Given the description of an element on the screen output the (x, y) to click on. 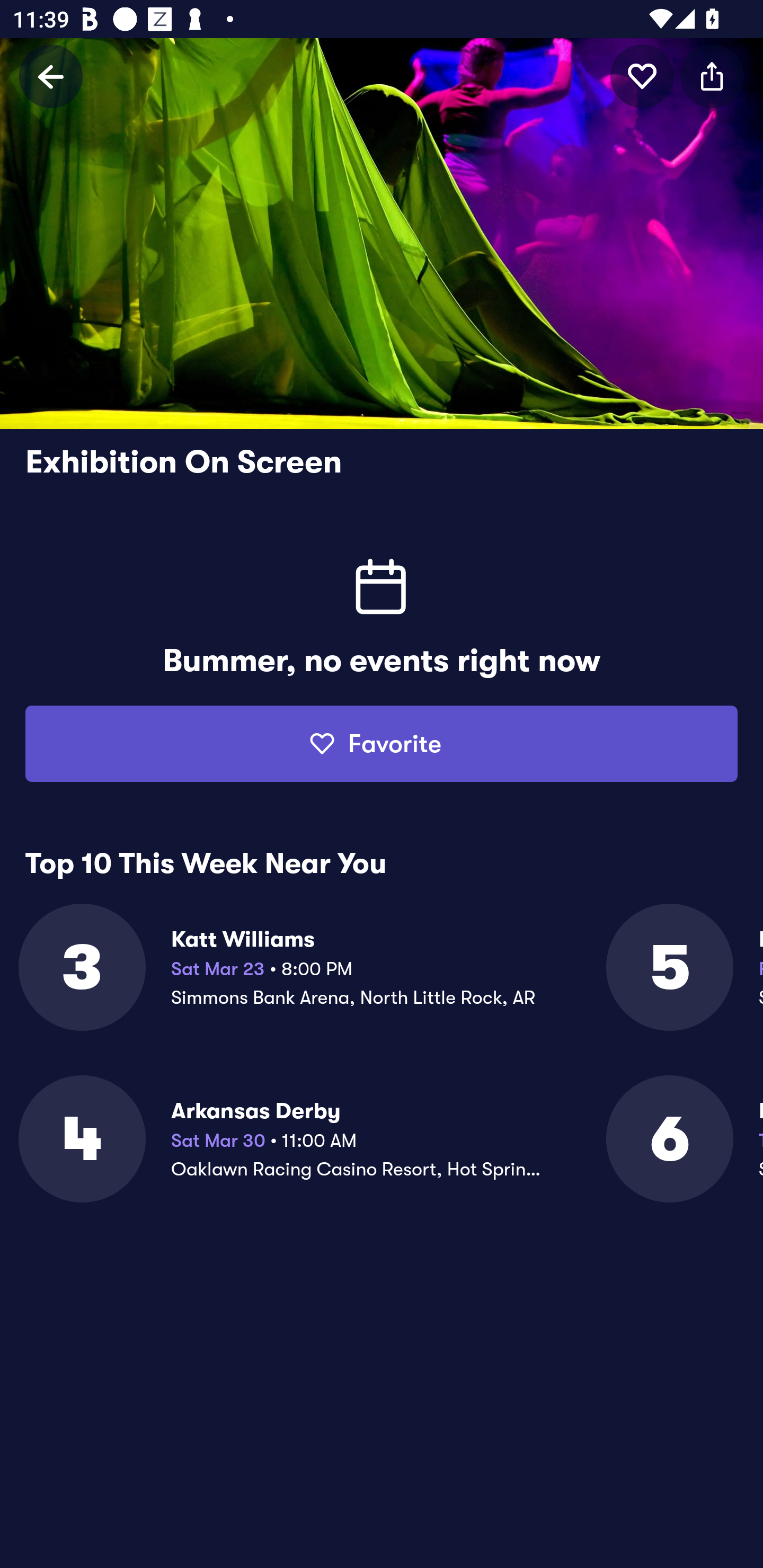
Back (50, 75)
icon button (641, 75)
icon button (711, 75)
Favorite (381, 743)
